Given the description of an element on the screen output the (x, y) to click on. 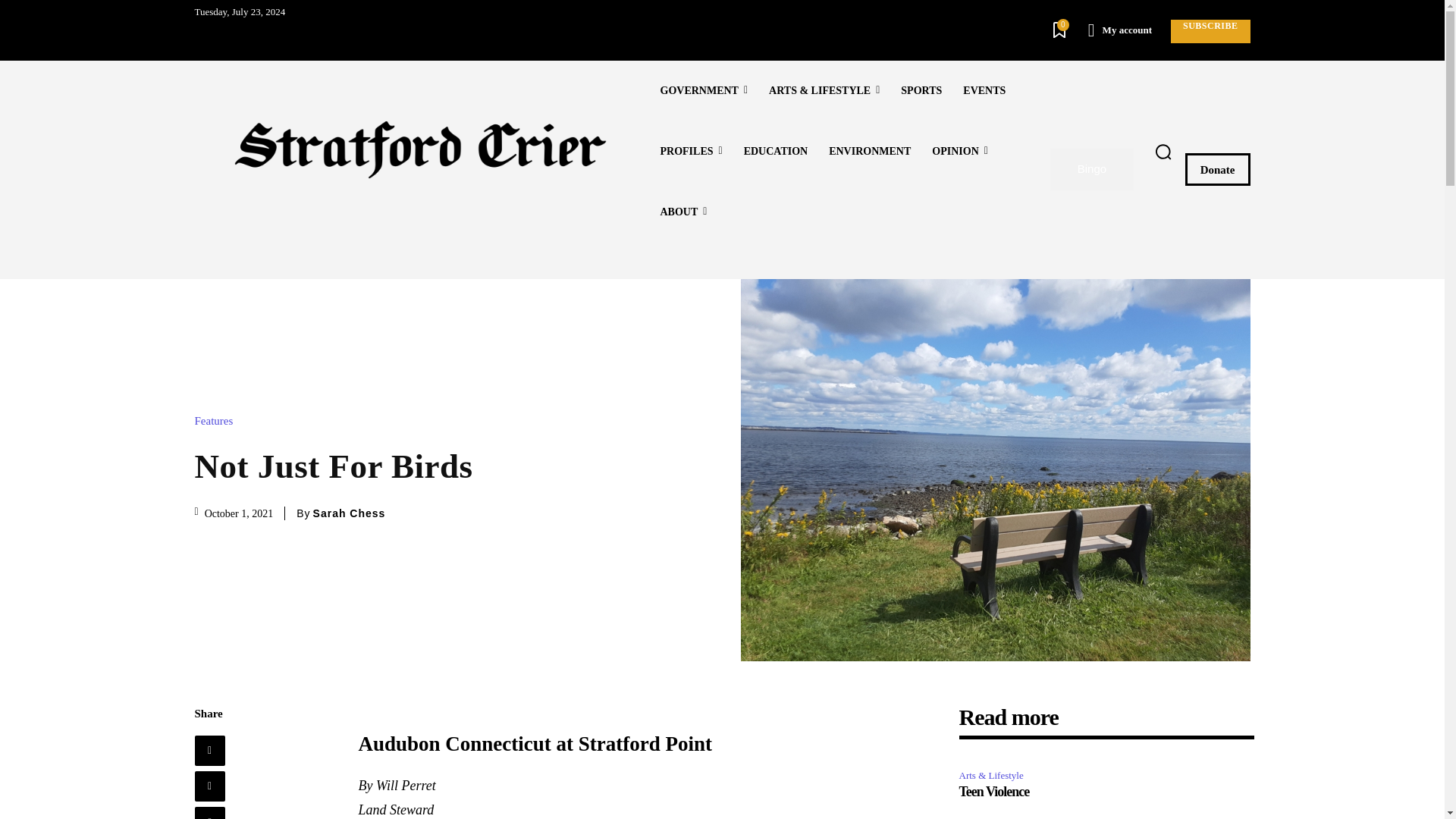
Bingo (1091, 169)
Subscribe (1210, 31)
Donate (1217, 169)
